Given the description of an element on the screen output the (x, y) to click on. 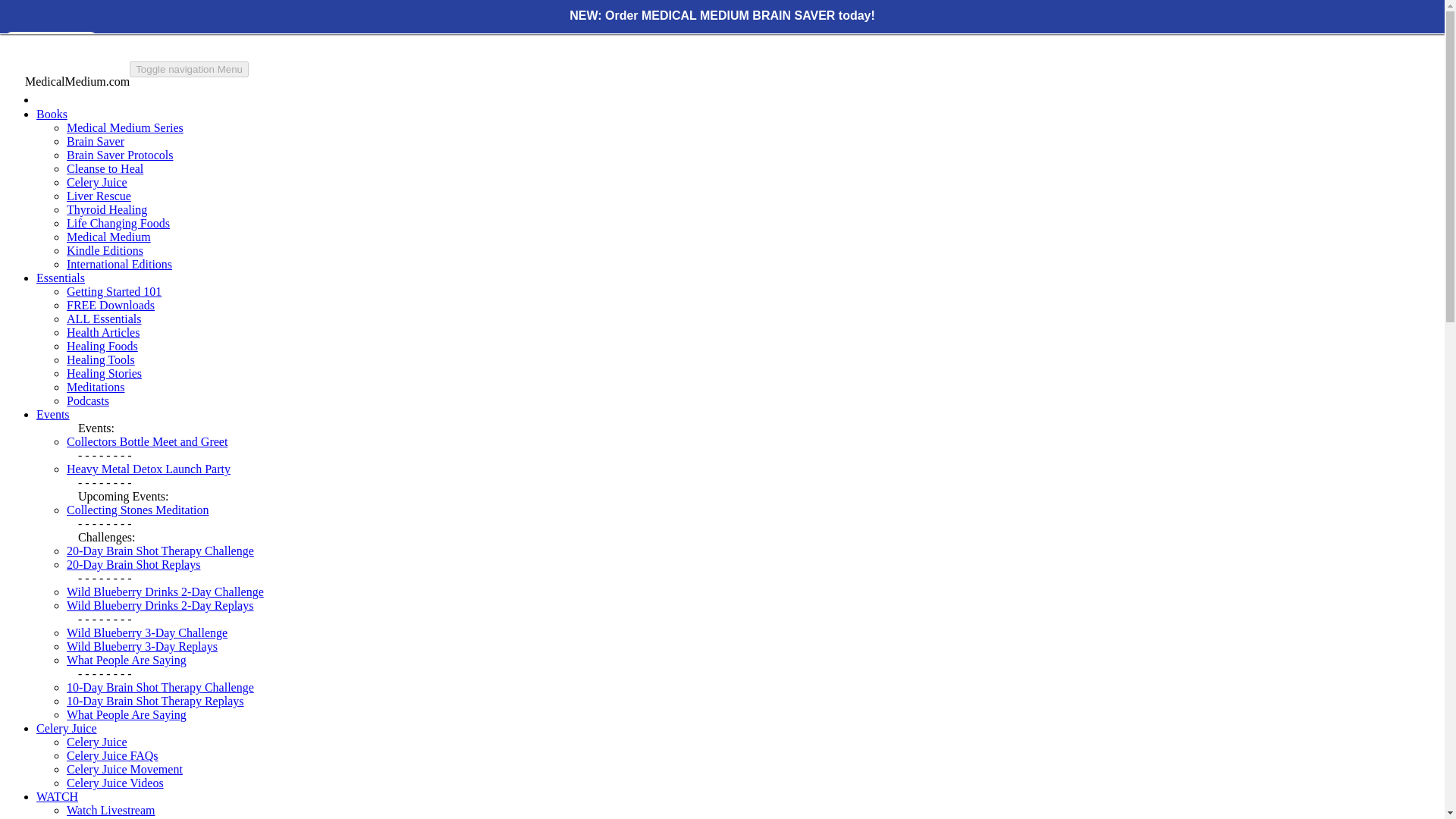
Collecting Stones Meditation (137, 509)
Events (52, 413)
Heavy Metal Detox Launch Party (148, 468)
Healing Tools (100, 359)
Healing Stories (103, 373)
Liver Rescue (98, 195)
Celery Juice (97, 182)
Medical Medium (108, 236)
Cleanse to Heal (104, 168)
Brain Saver Protocols (119, 154)
